Given the description of an element on the screen output the (x, y) to click on. 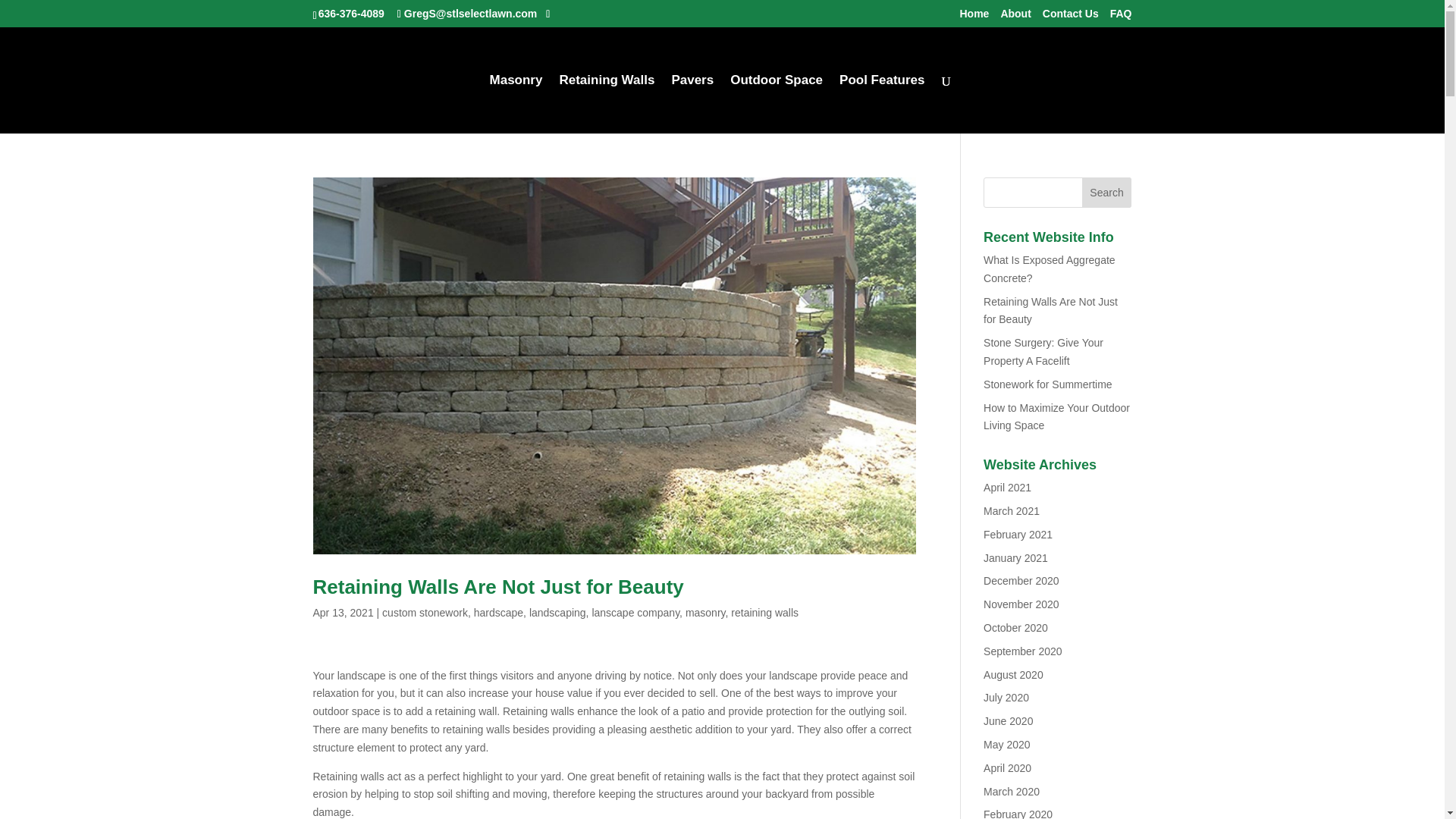
custom stonework (424, 612)
FAQ (1120, 16)
Contact Us (1070, 16)
Retaining Walls (606, 104)
About (1015, 16)
masonry (705, 612)
lanscape company (635, 612)
hardscape (498, 612)
landscaping (557, 612)
Pool Features (882, 104)
Home (973, 16)
Outdoor Space (776, 104)
Search (1106, 192)
retaining walls (763, 612)
636-376-4089 (351, 13)
